Given the description of an element on the screen output the (x, y) to click on. 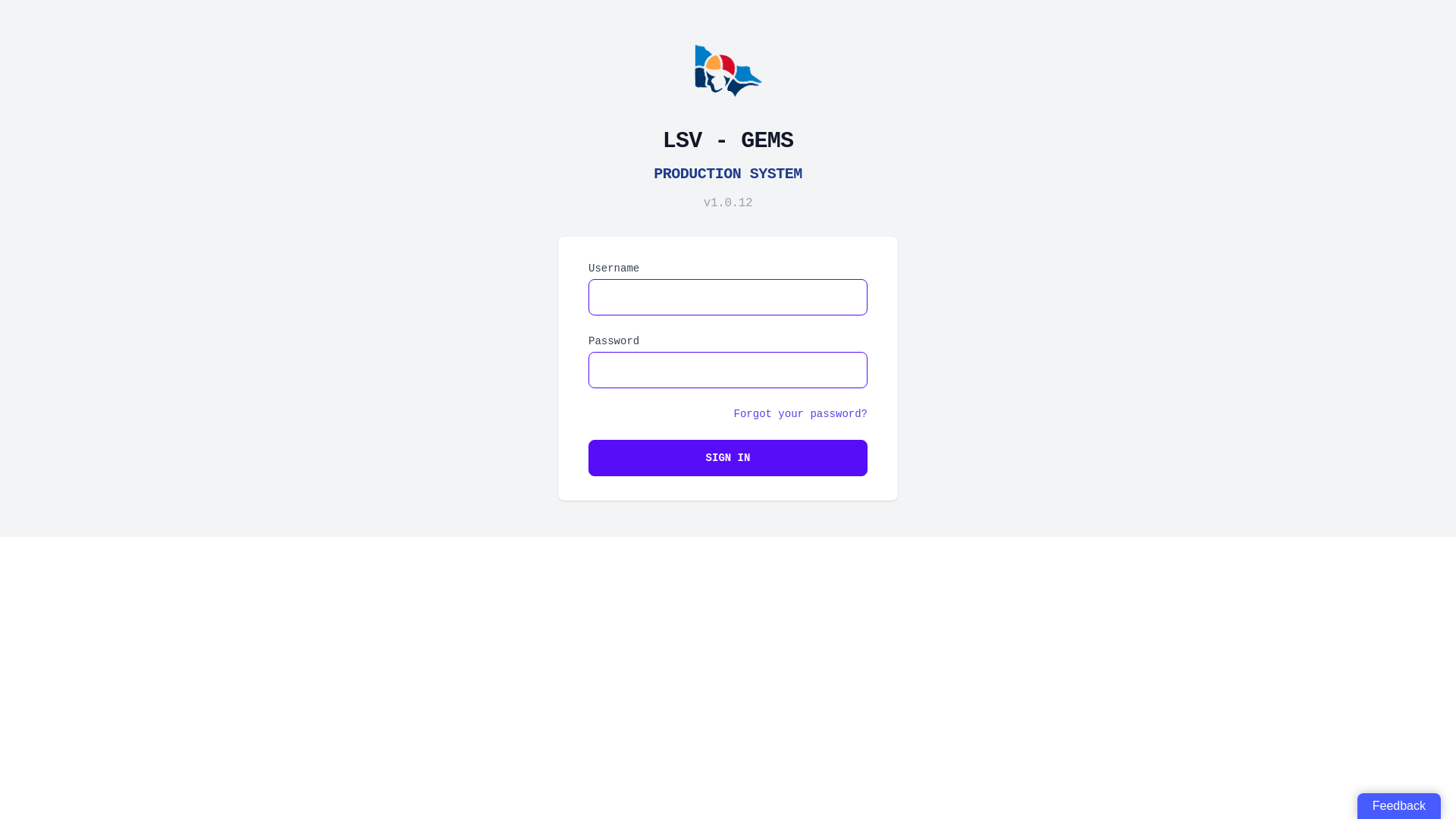
Forgot your password? Element type: text (800, 413)
SIGN IN Element type: text (727, 457)
